Given the description of an element on the screen output the (x, y) to click on. 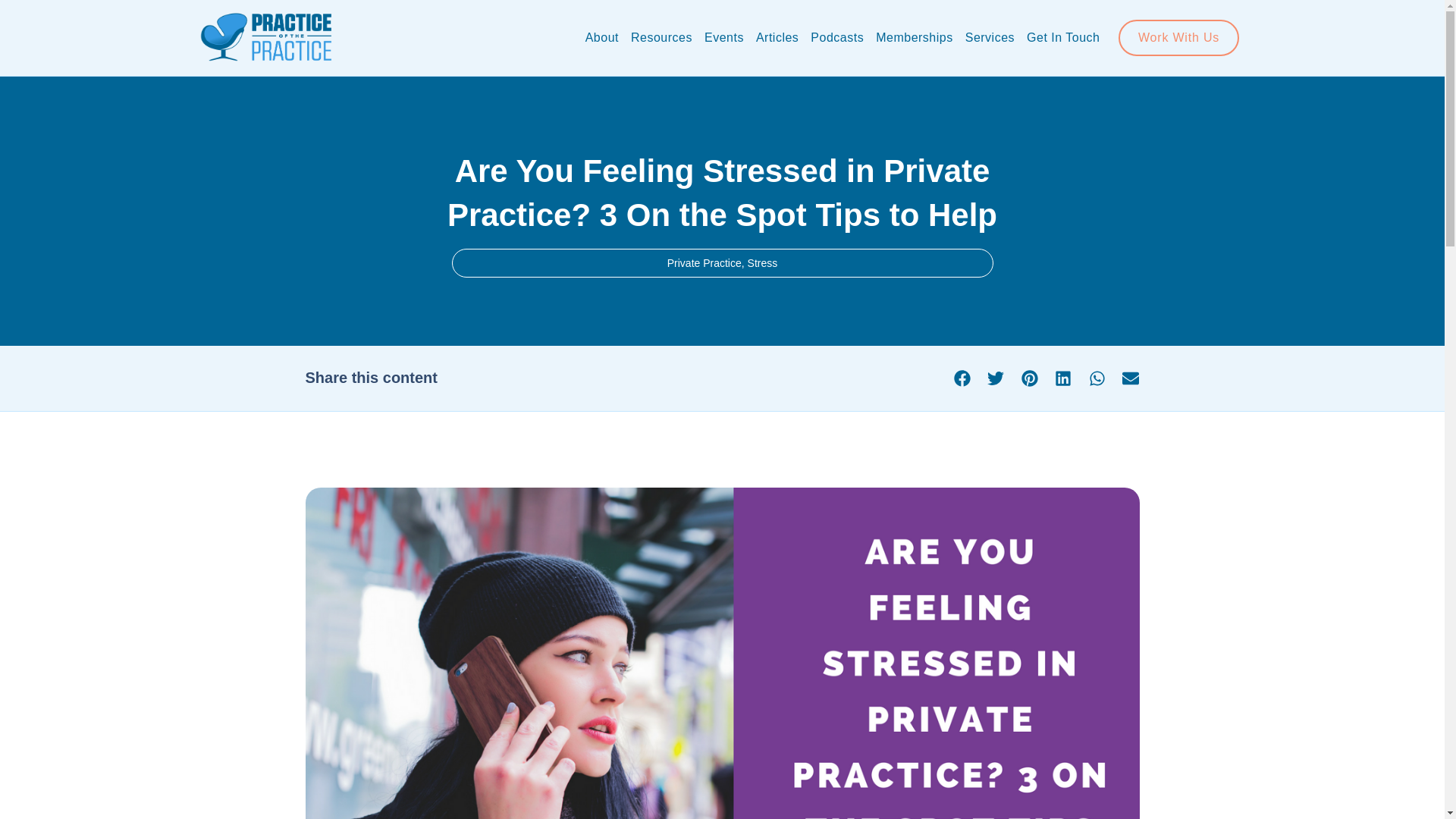
Memberships (914, 37)
Resources (661, 37)
Articles (777, 37)
Podcasts (836, 37)
About (601, 37)
Events (724, 37)
